Given the description of an element on the screen output the (x, y) to click on. 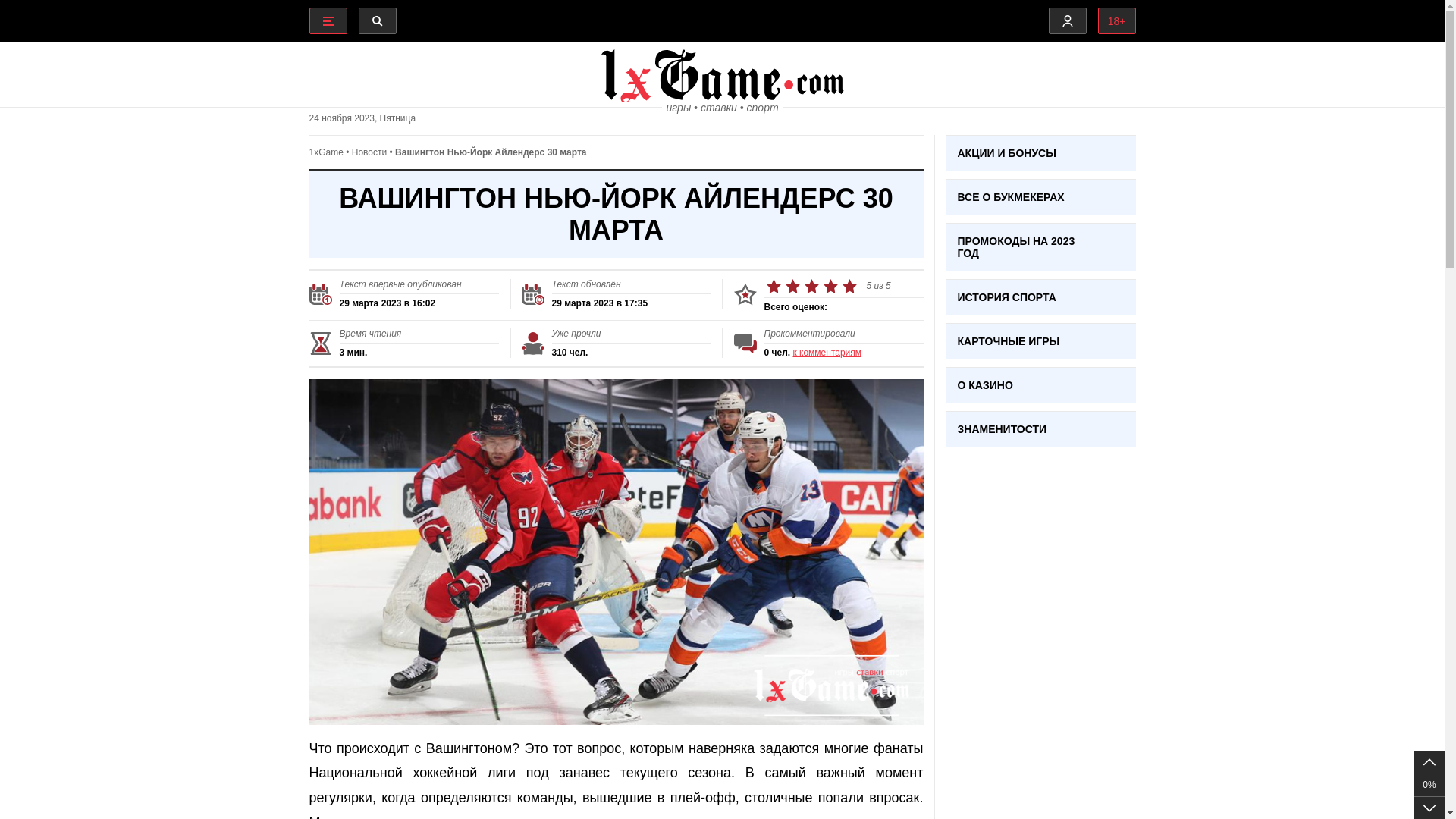
18+ Element type: text (1116, 20)
1xGame Element type: text (326, 152)
